Given the description of an element on the screen output the (x, y) to click on. 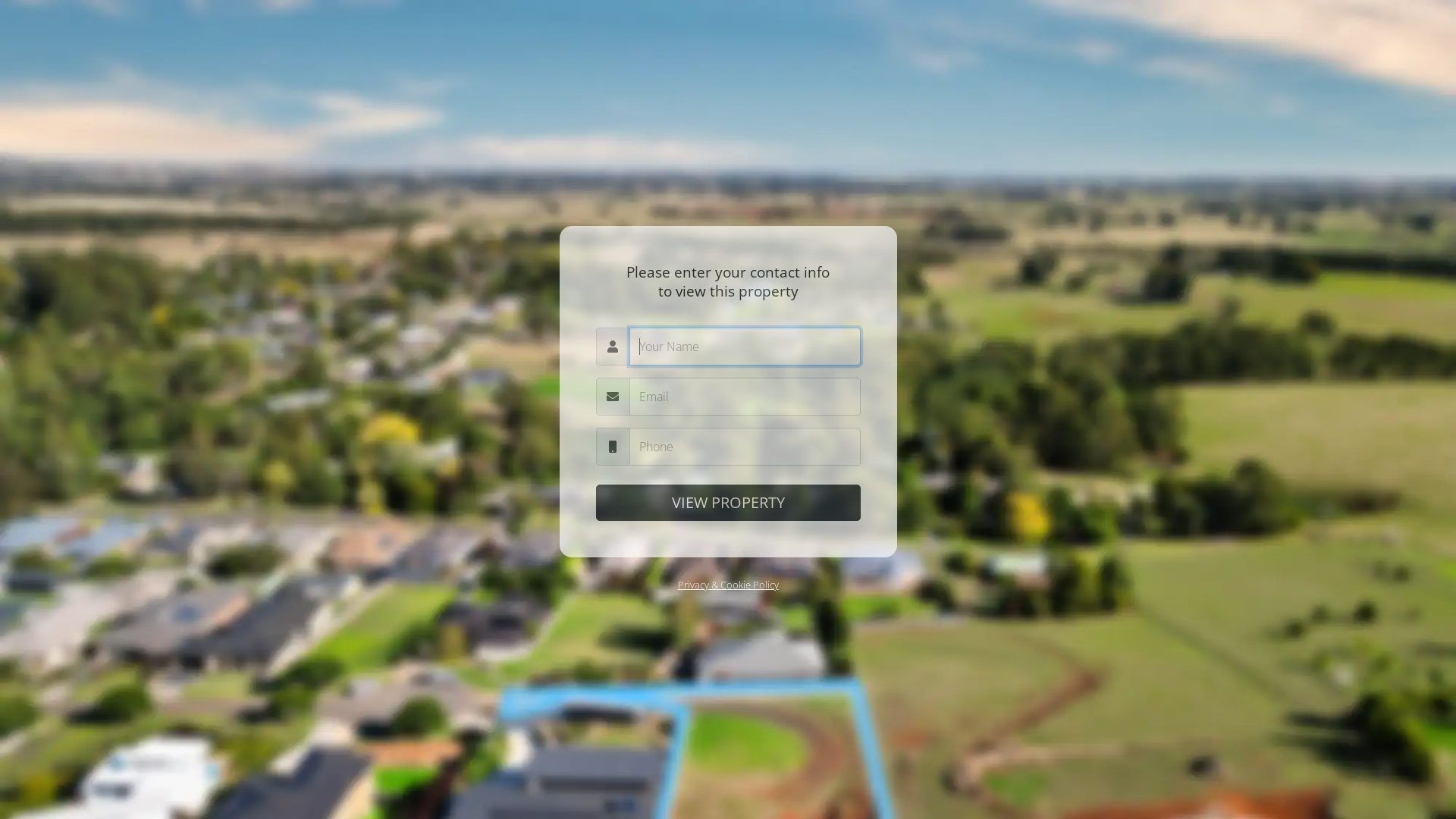
VIEW PROPERTY Element type: text (728, 502)
Privacy & Cookie Policy Element type: text (727, 584)
